Given the description of an element on the screen output the (x, y) to click on. 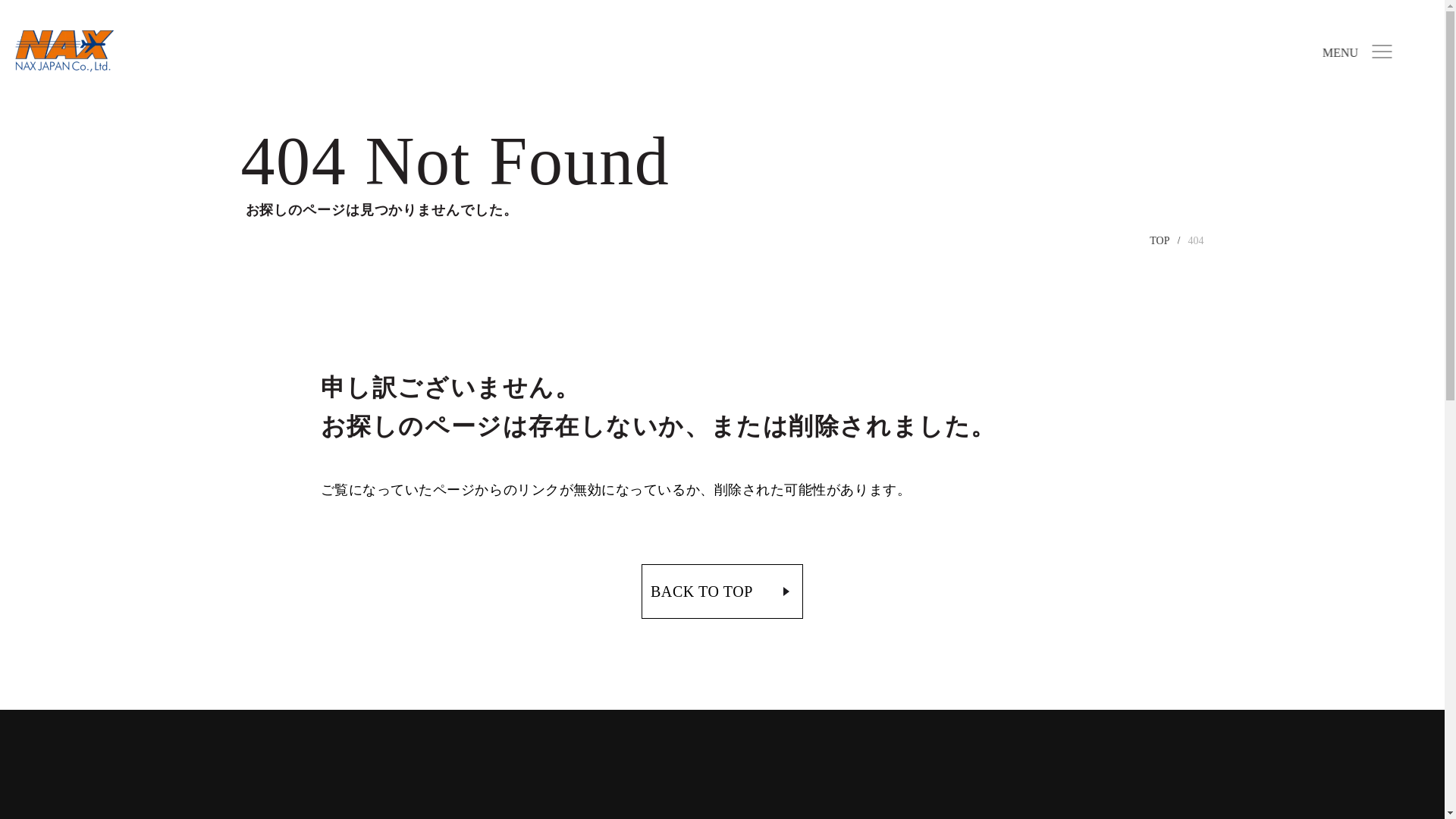
TOP (1159, 240)
BACK TO TOP (722, 591)
MENU (1356, 51)
